Given the description of an element on the screen output the (x, y) to click on. 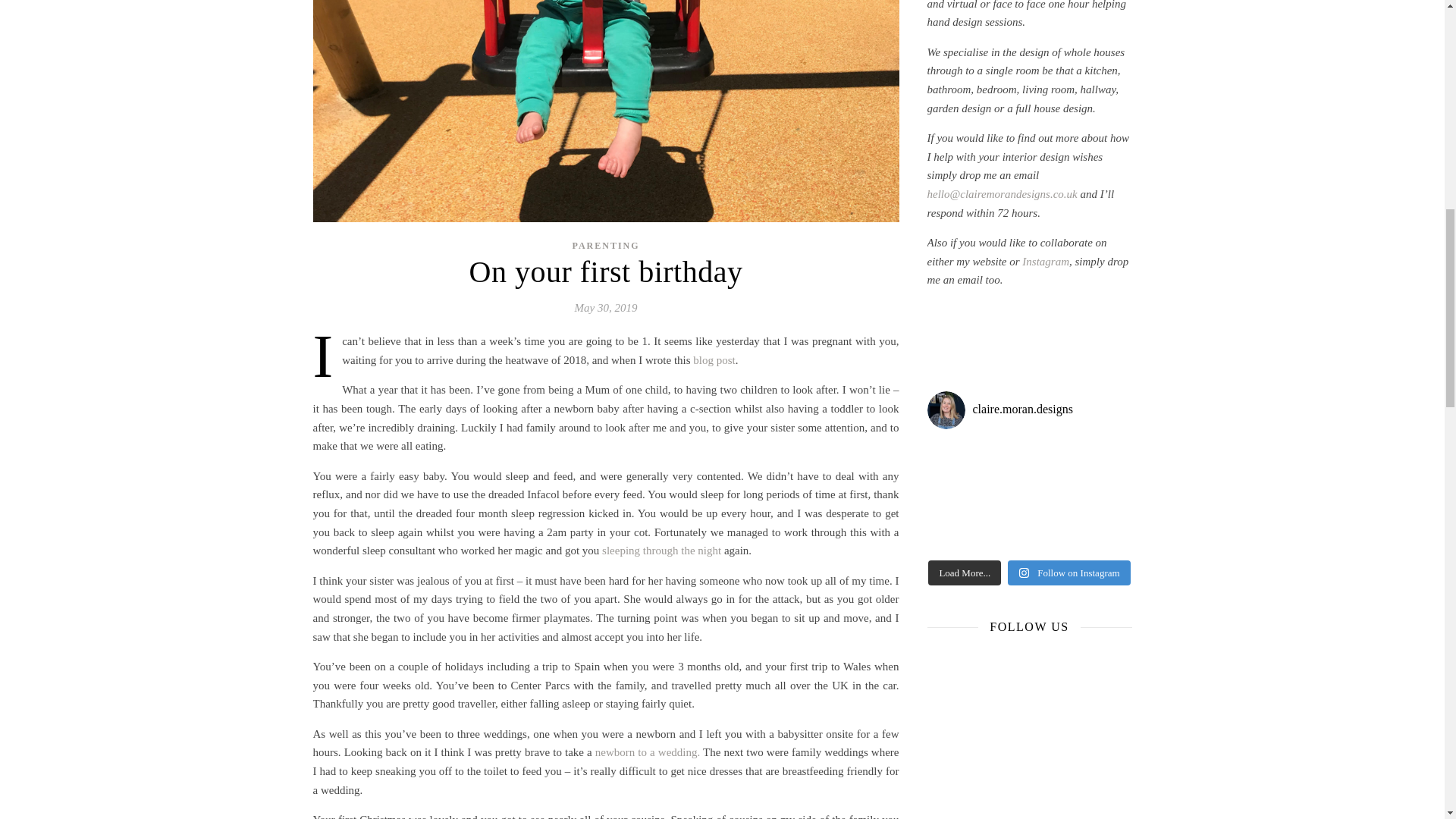
PARENTING (605, 245)
newborn to a wedding. (647, 752)
blog post (714, 359)
sleeping through the night (661, 550)
